Given the description of an element on the screen output the (x, y) to click on. 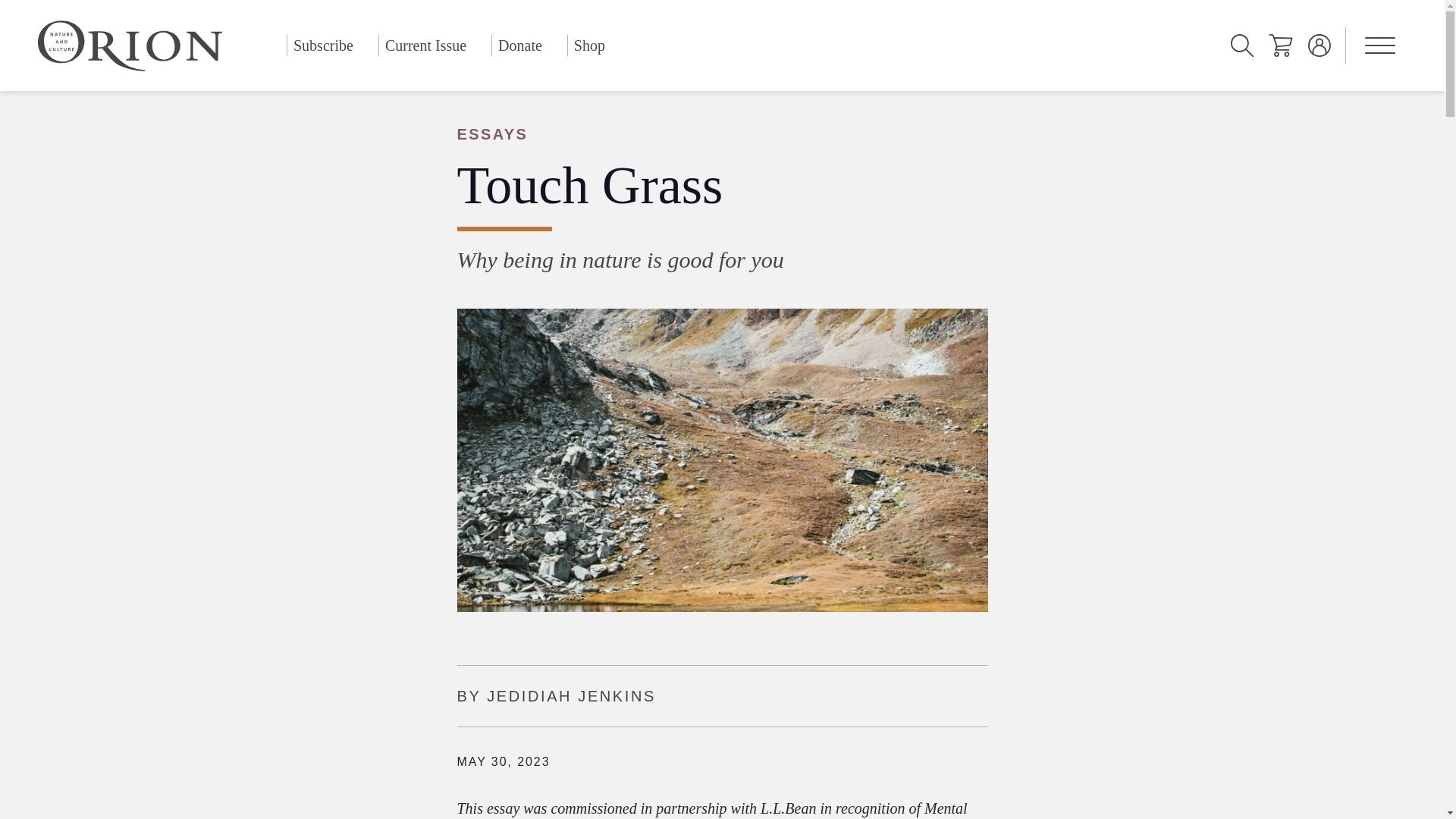
JEDIDIAH JENKINS (571, 695)
Subscribe (322, 45)
Search (1242, 45)
Cart (1280, 45)
ESSAYS (721, 134)
Current Issue (424, 45)
Donate (520, 45)
Shop (589, 45)
MAY 30, 2023 (503, 761)
Account Dashboard (1319, 45)
